Given the description of an element on the screen output the (x, y) to click on. 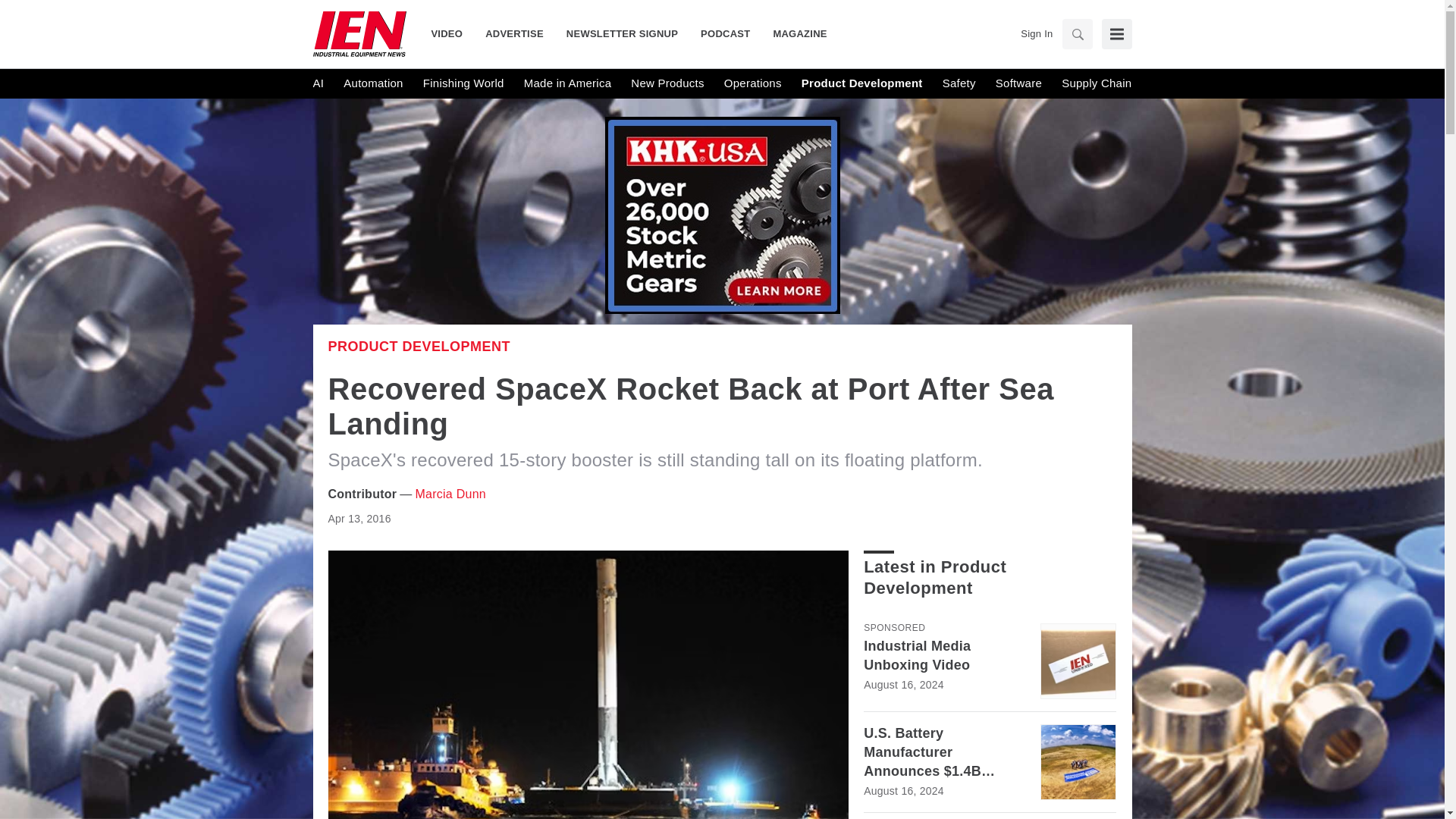
Safety (958, 83)
New Products (666, 83)
VIDEO (452, 33)
Sign In (1036, 33)
ADVERTISE (514, 33)
Supply Chain (1096, 83)
Product Development (862, 83)
MAGAZINE (794, 33)
PODCAST (724, 33)
Made in America (567, 83)
